Given the description of an element on the screen output the (x, y) to click on. 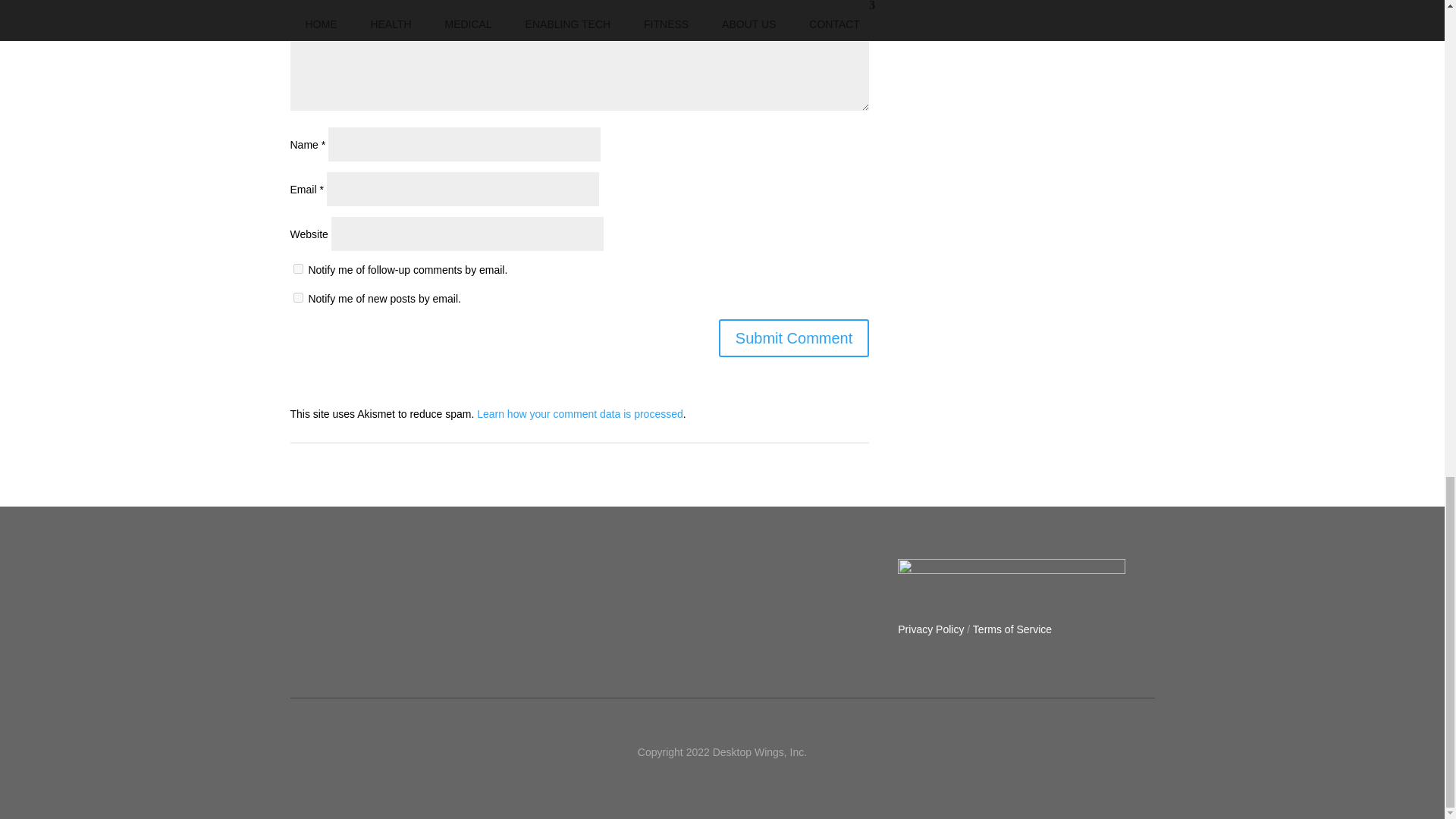
Submit Comment (794, 338)
Learn how your comment data is processed (579, 413)
subscribe (297, 297)
Submit Comment (794, 338)
Terms of Service (1011, 629)
subscribe (297, 268)
Privacy Policy (930, 629)
